Given the description of an element on the screen output the (x, y) to click on. 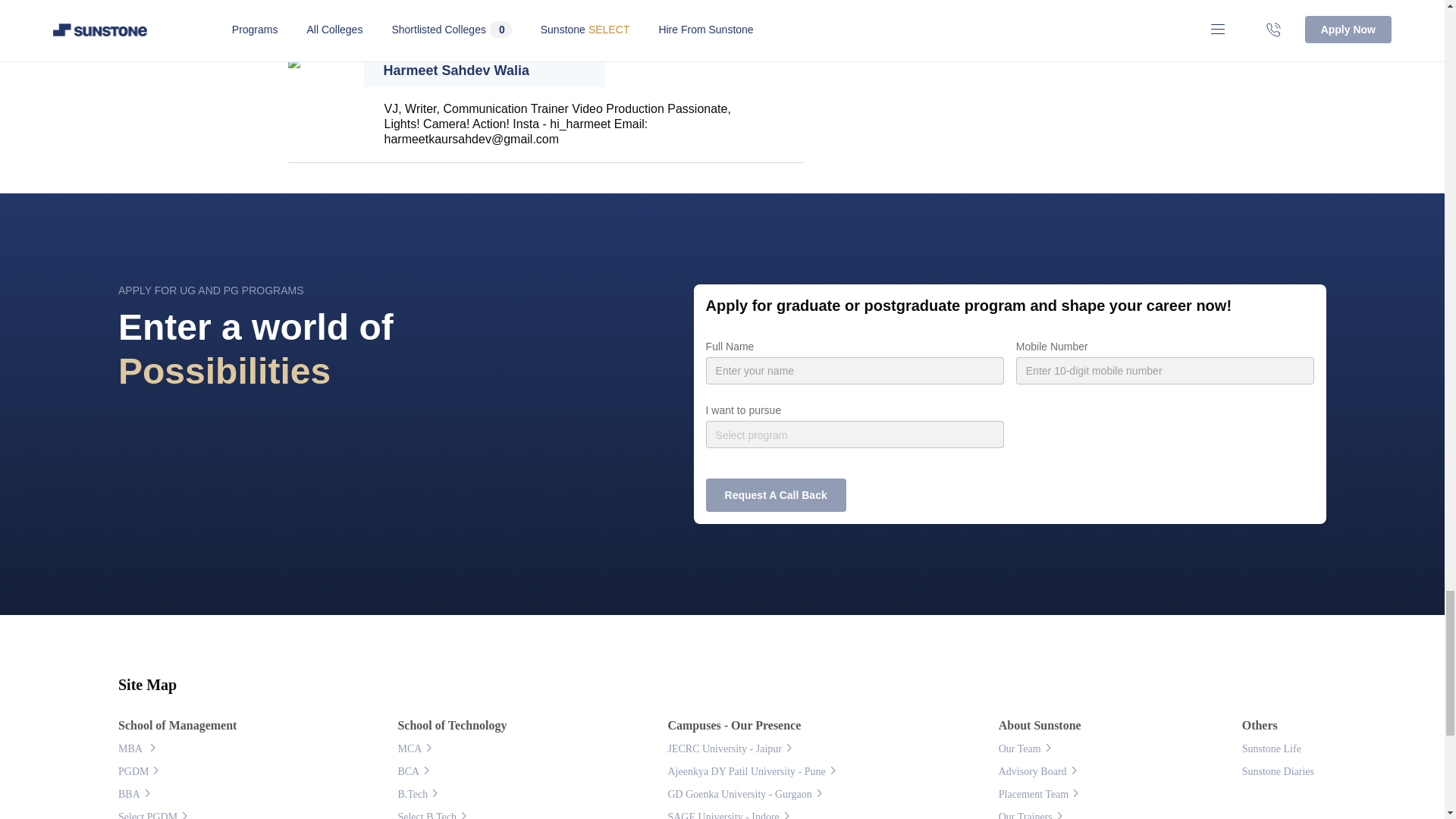
GD Goenka University - Gurgaon (738, 794)
Request A Call Back (775, 494)
Select B.Tech (427, 814)
B.Tech (412, 794)
JECRC University - Jaipur (723, 748)
PGDM (132, 771)
Select PGDM (147, 814)
JECRC University - Jaipur (723, 748)
BBA (128, 794)
Ajeenkya DY Patil University - Pune (745, 771)
